Given the description of an element on the screen output the (x, y) to click on. 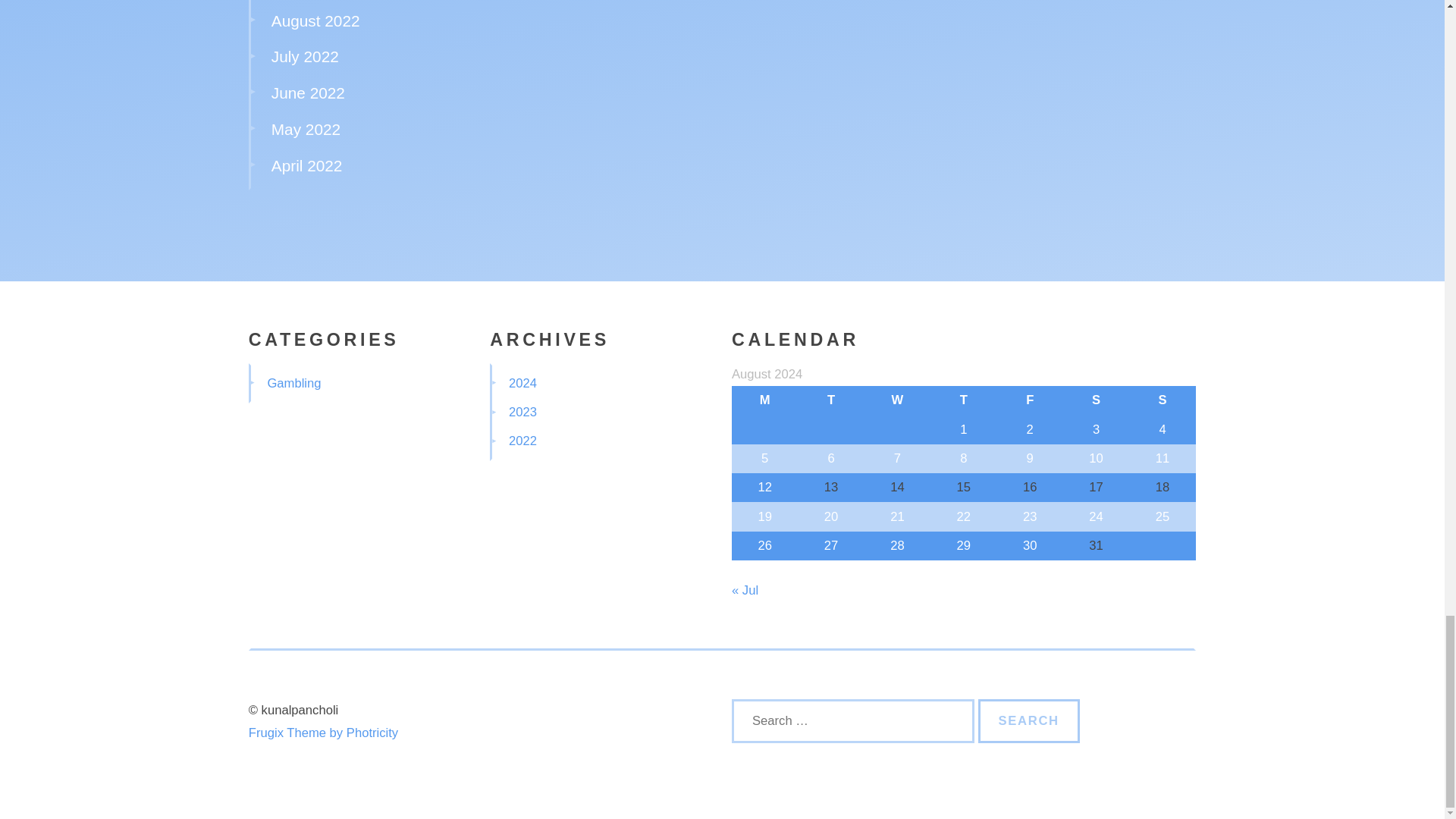
Friday (1029, 399)
Search (1029, 720)
May 2022 (305, 129)
June 2022 (307, 92)
Monday (764, 399)
April 2022 (306, 165)
August 2022 (314, 20)
Thursday (962, 399)
Wednesday (897, 399)
Search (1029, 720)
